Given the description of an element on the screen output the (x, y) to click on. 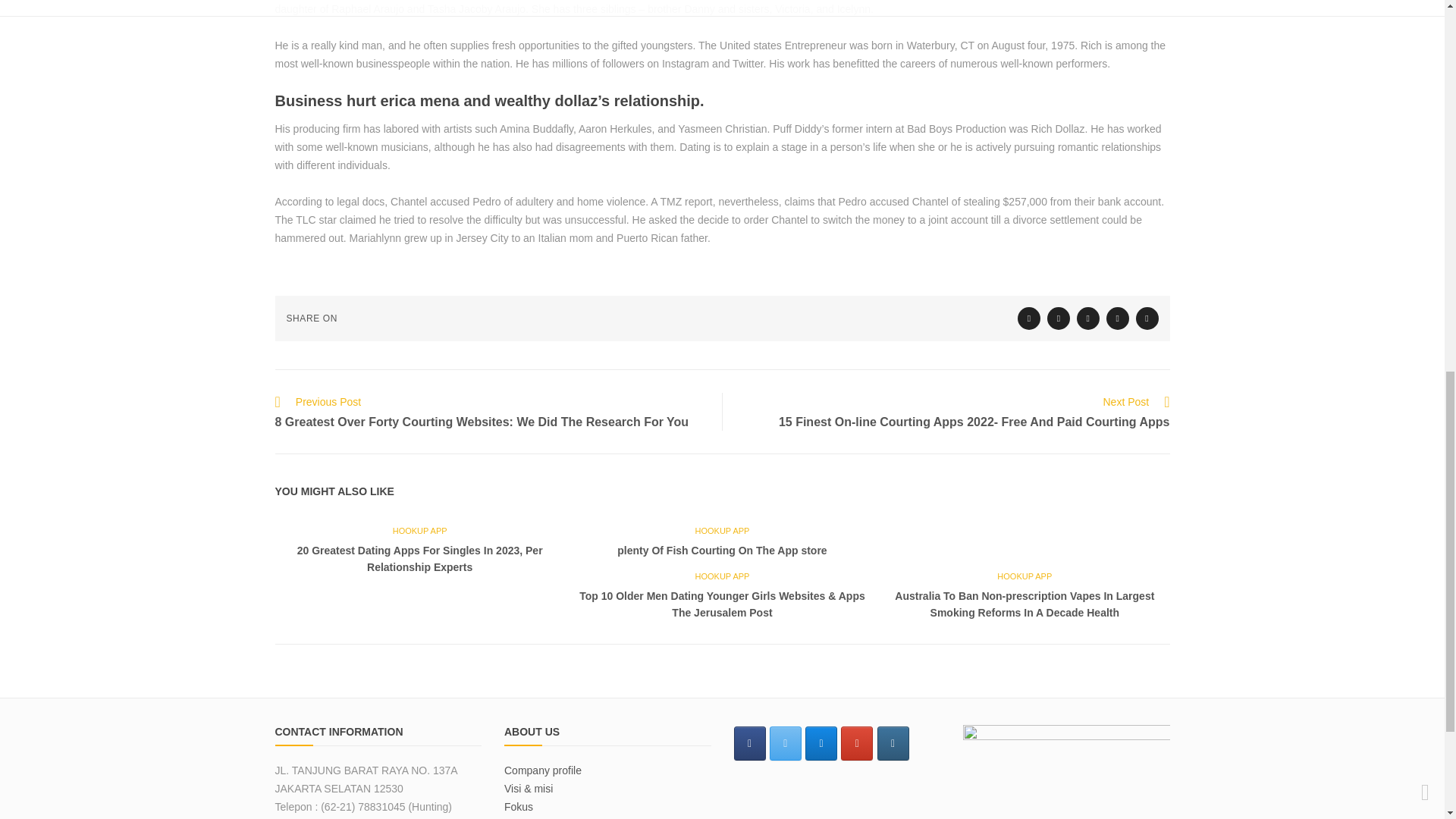
Synergy Dua Kawan Sejati on Google Plus (856, 743)
Synergy Dua Kawan Sejati on Twitter (786, 743)
Synergy Dua Kawan Sejati on Dropbox (821, 743)
LinkedIn (1117, 318)
Synergy Dua Kawan Sejati on Instagram (892, 743)
Facebook (1058, 318)
Synergy Dua Kawan Sejati on Facebook (749, 743)
Pinterest (1146, 318)
Twitter (1029, 318)
